Given the description of an element on the screen output the (x, y) to click on. 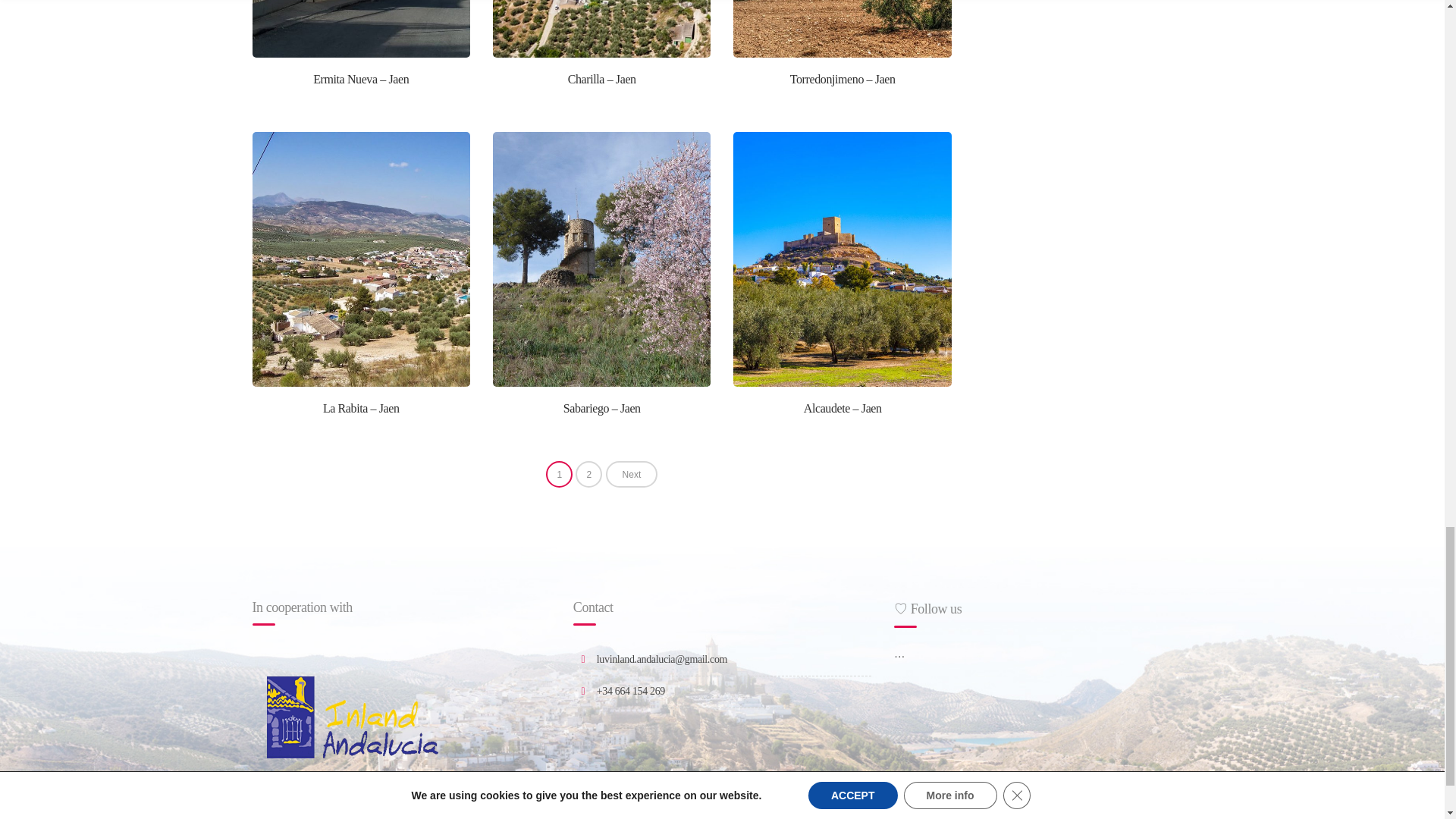
In cooperation with (351, 717)
